Given the description of an element on the screen output the (x, y) to click on. 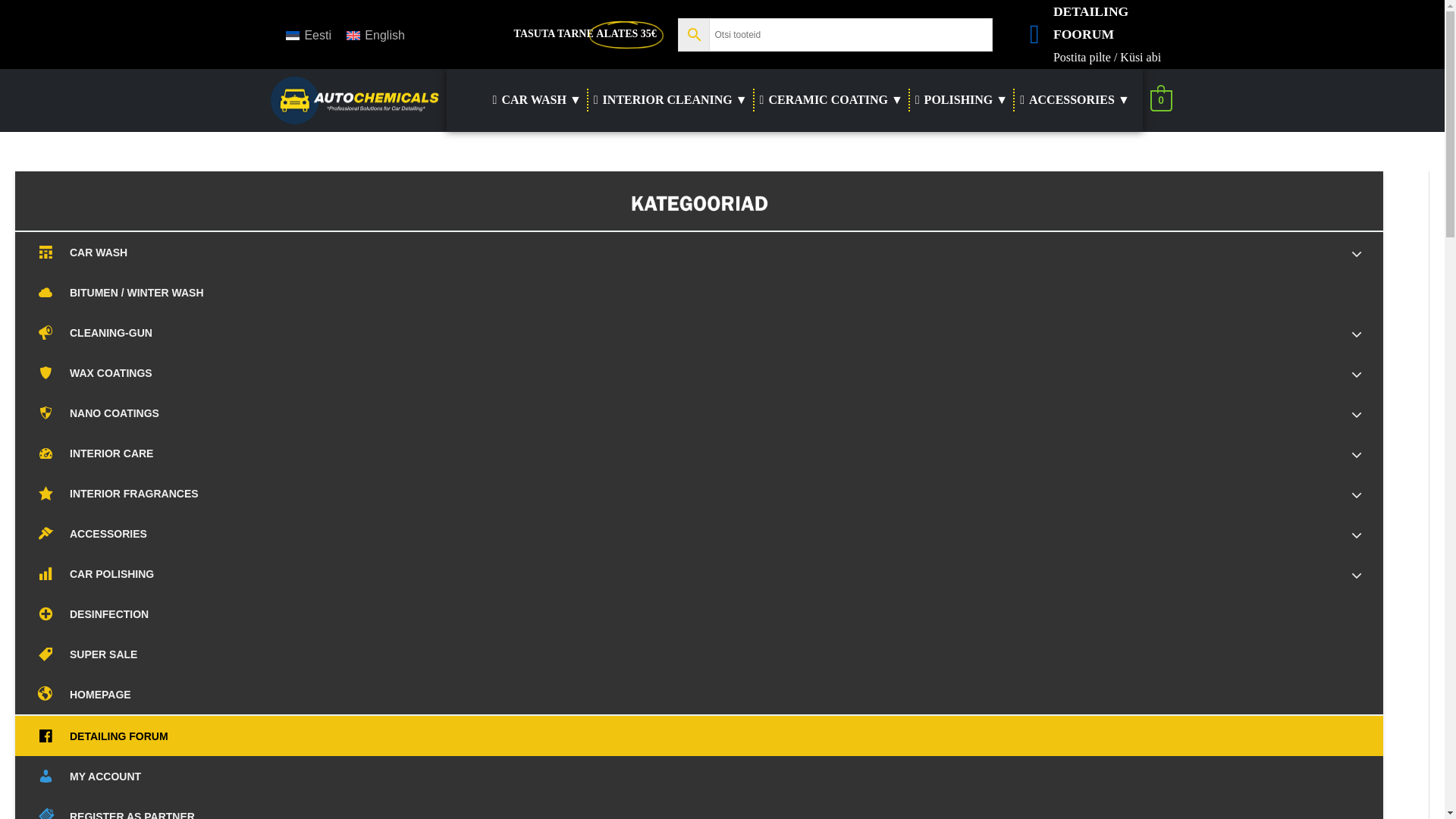
DETAILING FOORUM (1090, 48)
View your shopping cart (1161, 99)
Eesti (308, 35)
English (375, 35)
